Given the description of an element on the screen output the (x, y) to click on. 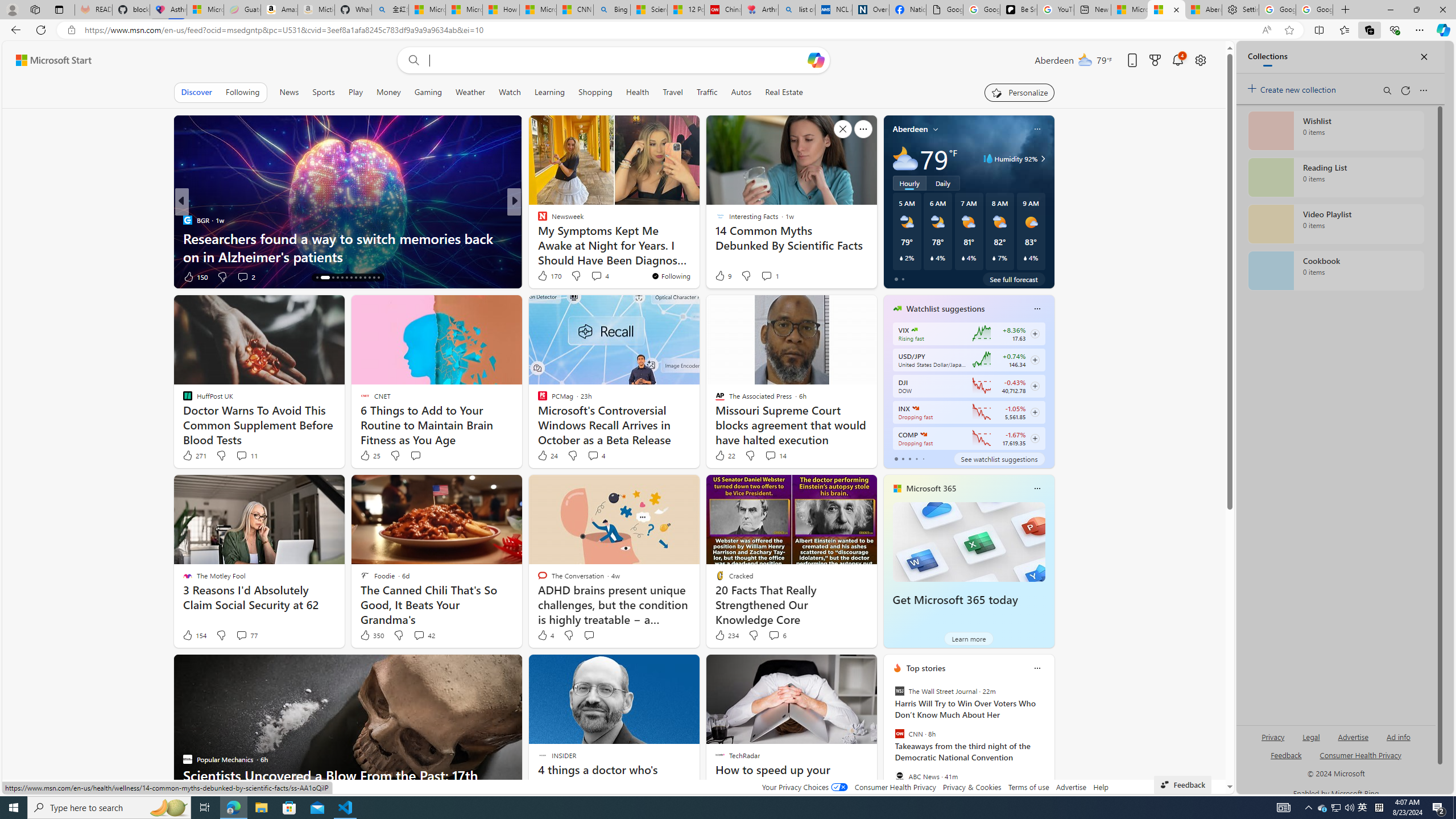
AutomationID: tab-19 (346, 277)
AutomationID: tab-18 (342, 277)
AutomationID: tab-21 (355, 277)
Class: follow-button  m (1034, 438)
11 Scientific Facts That Public Opinion Refuses to Believe (347, 247)
